Given the description of an element on the screen output the (x, y) to click on. 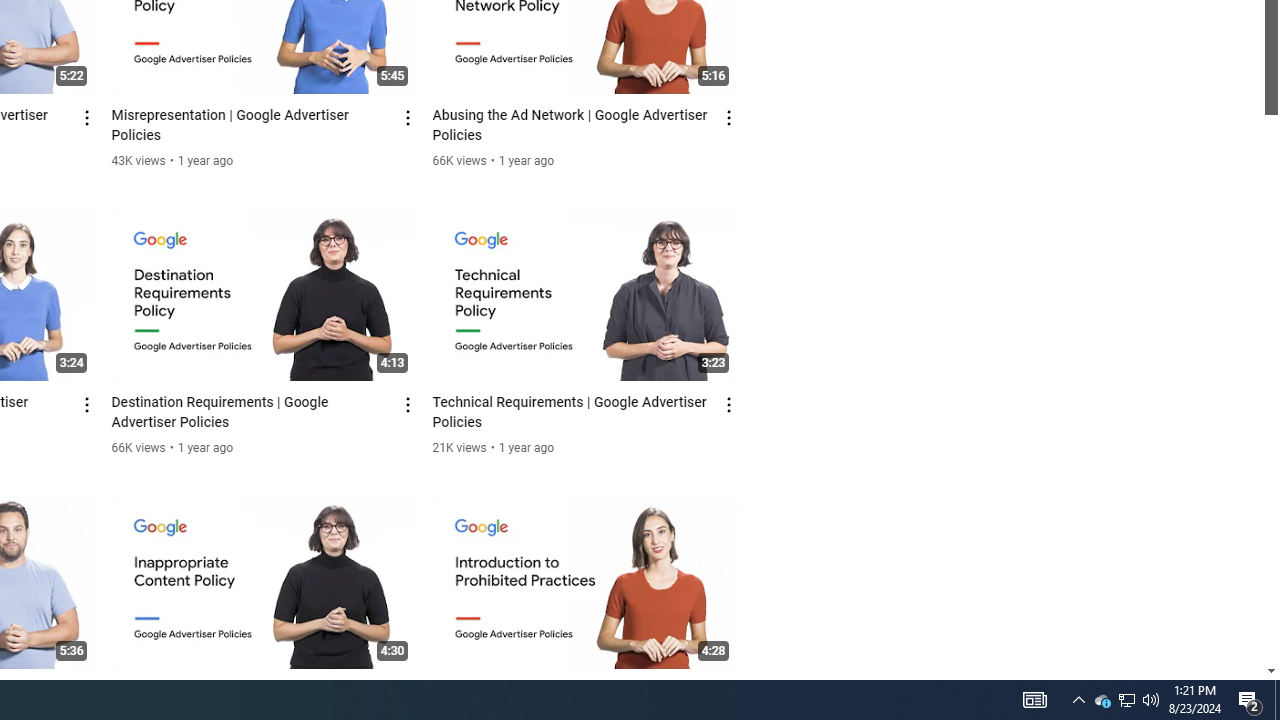
Action menu (729, 691)
